Given the description of an element on the screen output the (x, y) to click on. 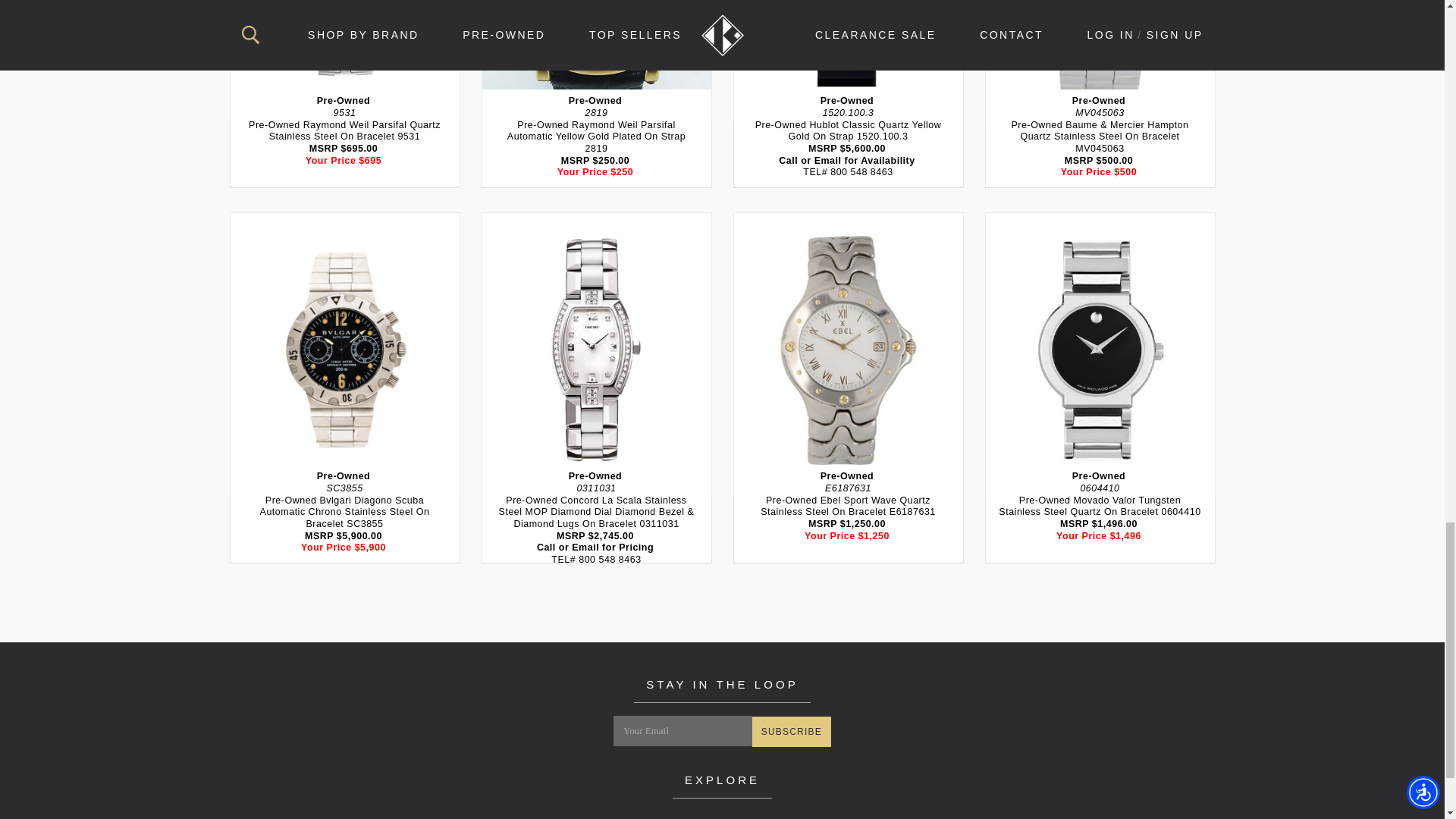
Subscribe (791, 731)
